Given the description of an element on the screen output the (x, y) to click on. 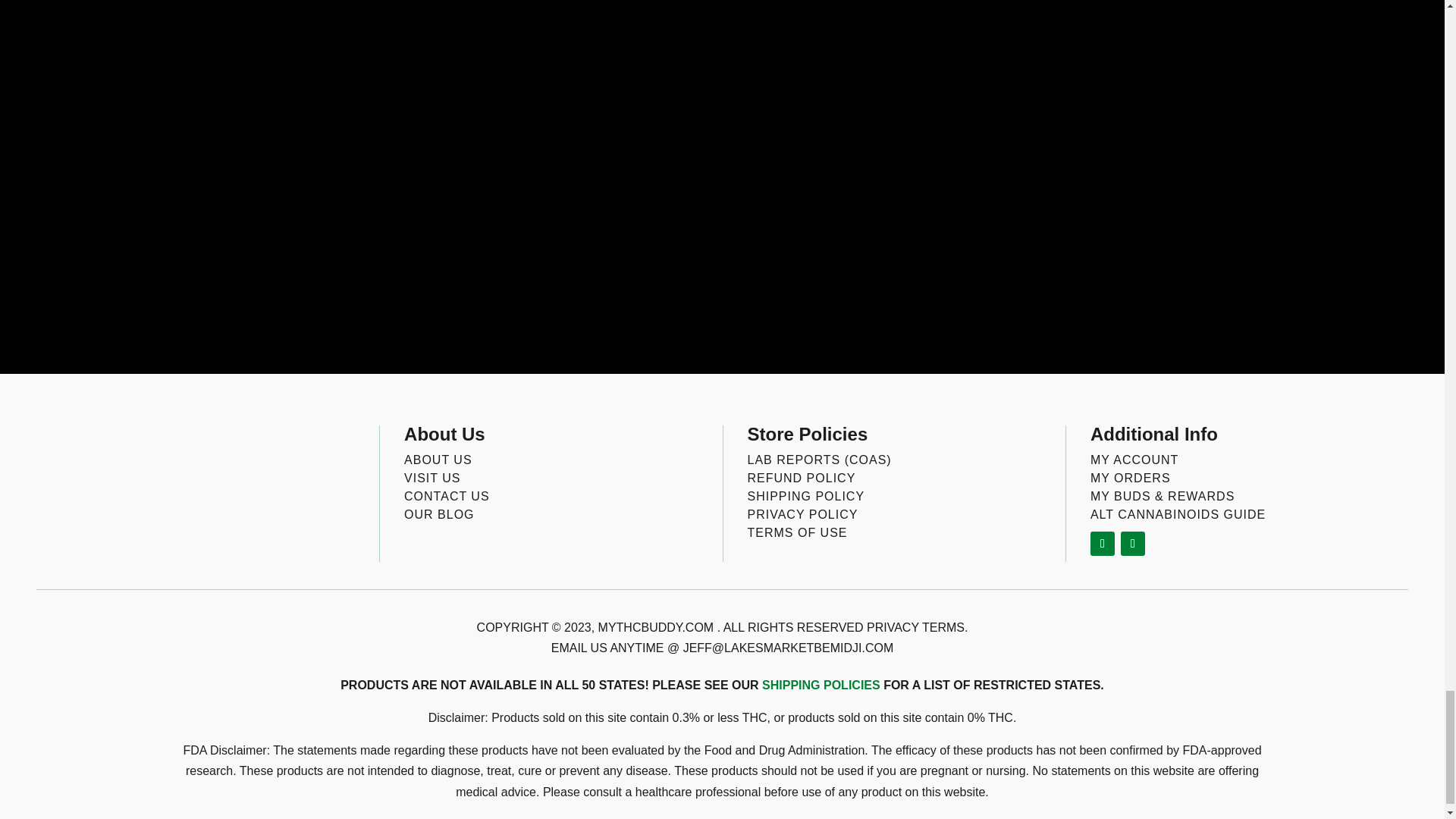
About Us (437, 459)
Contact Us (446, 495)
MyTHCBuddy Blog (439, 513)
Shipping Policy (806, 495)
Refund Policy (802, 477)
Privacy Policy (803, 513)
Terms of Use (797, 532)
Visit Us (432, 477)
